Given the description of an element on the screen output the (x, y) to click on. 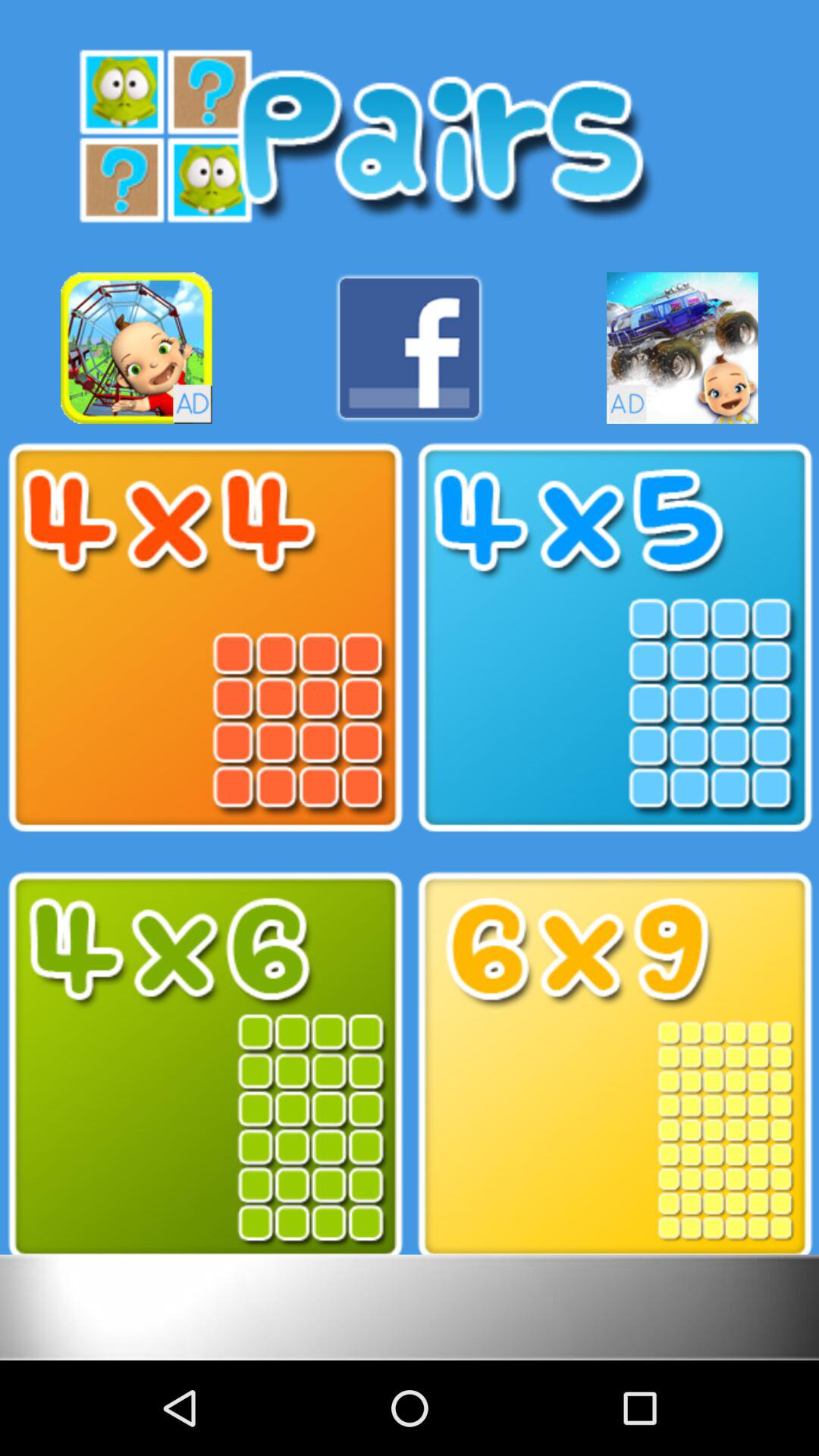
select the option (204, 637)
